Given the description of an element on the screen output the (x, y) to click on. 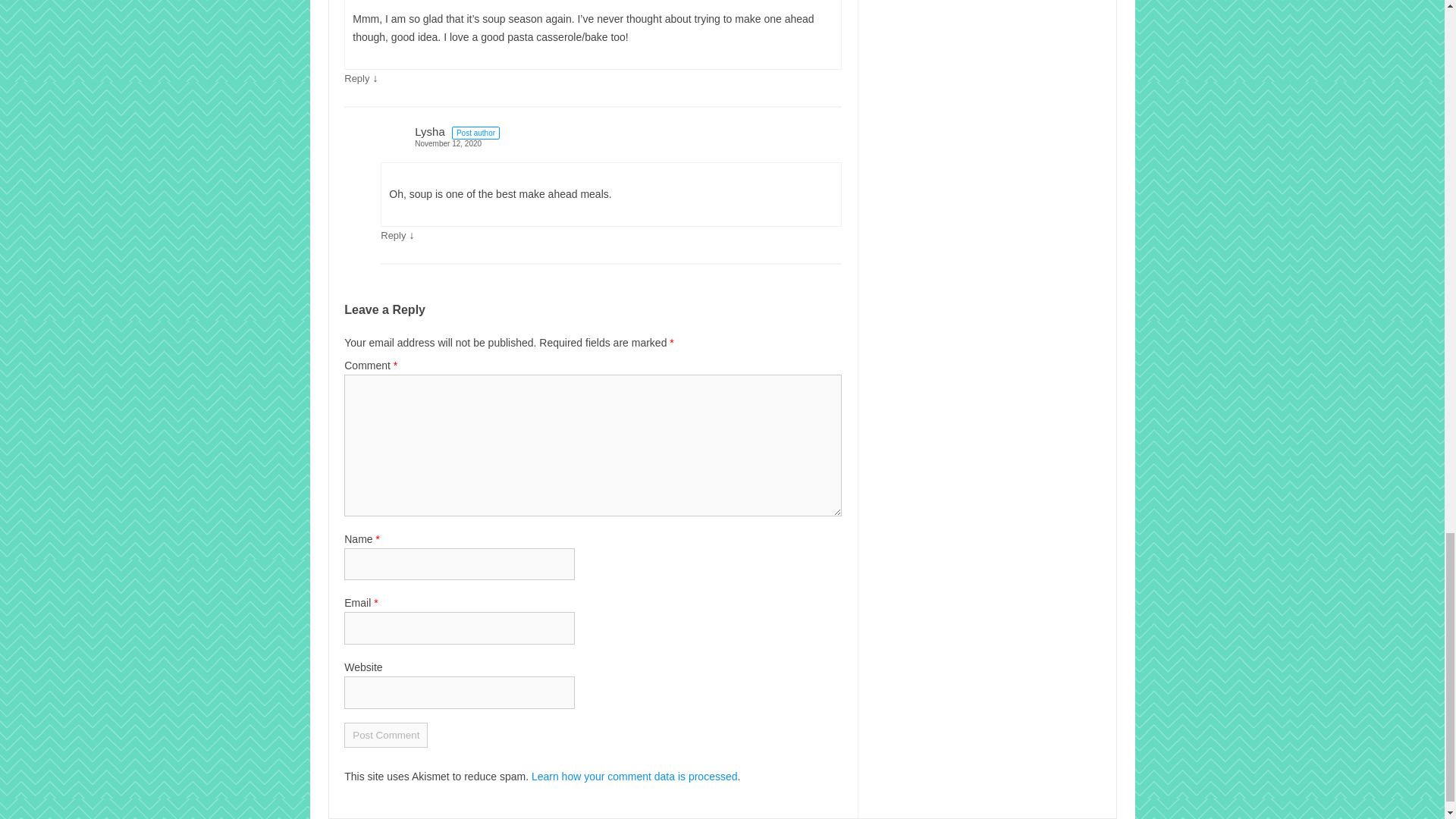
November 12, 2020 (610, 143)
Reply (393, 235)
Reply (356, 78)
Lysha (429, 131)
Post Comment (385, 734)
